Given the description of an element on the screen output the (x, y) to click on. 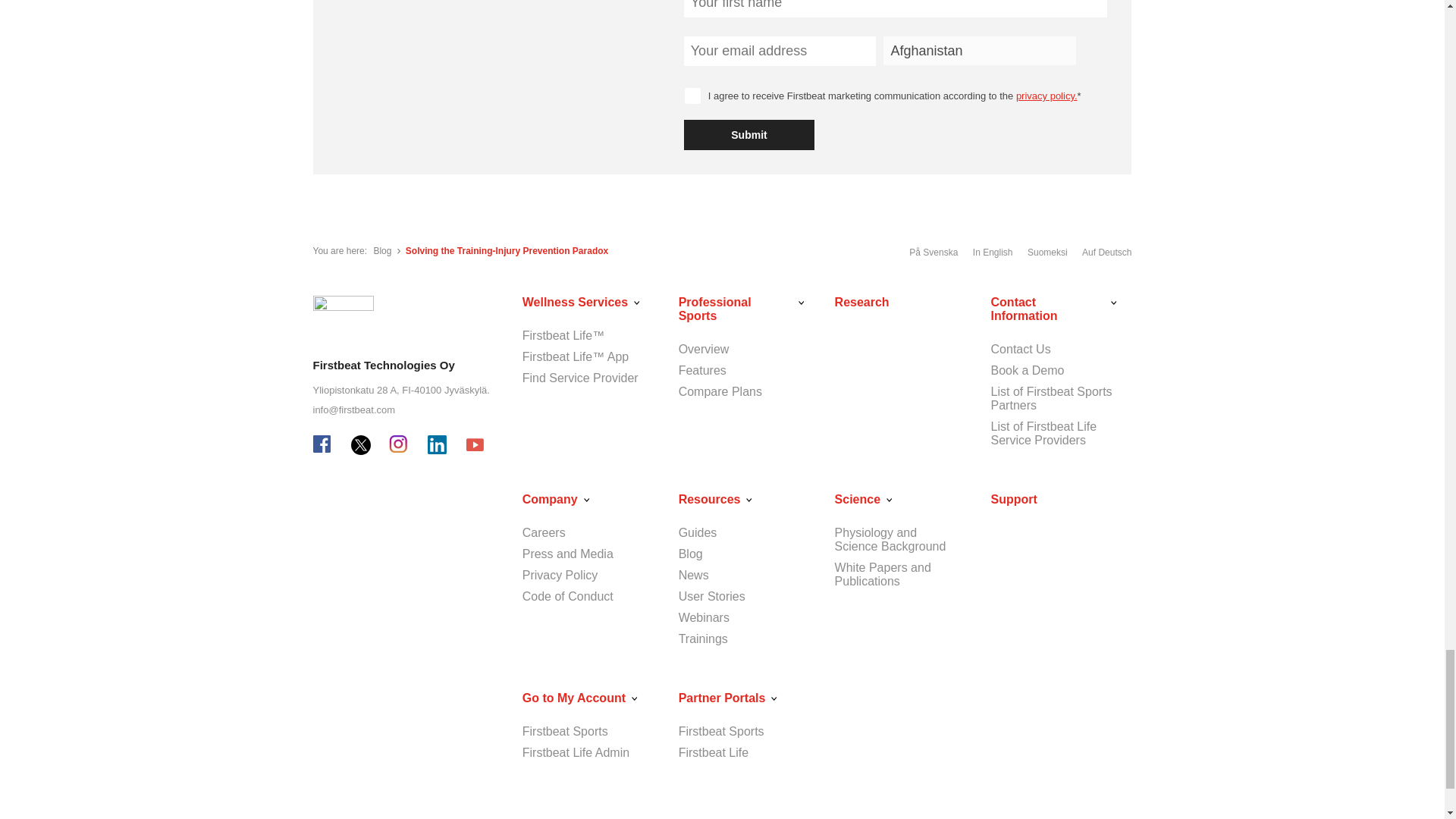
Submit (748, 134)
